Given the description of an element on the screen output the (x, y) to click on. 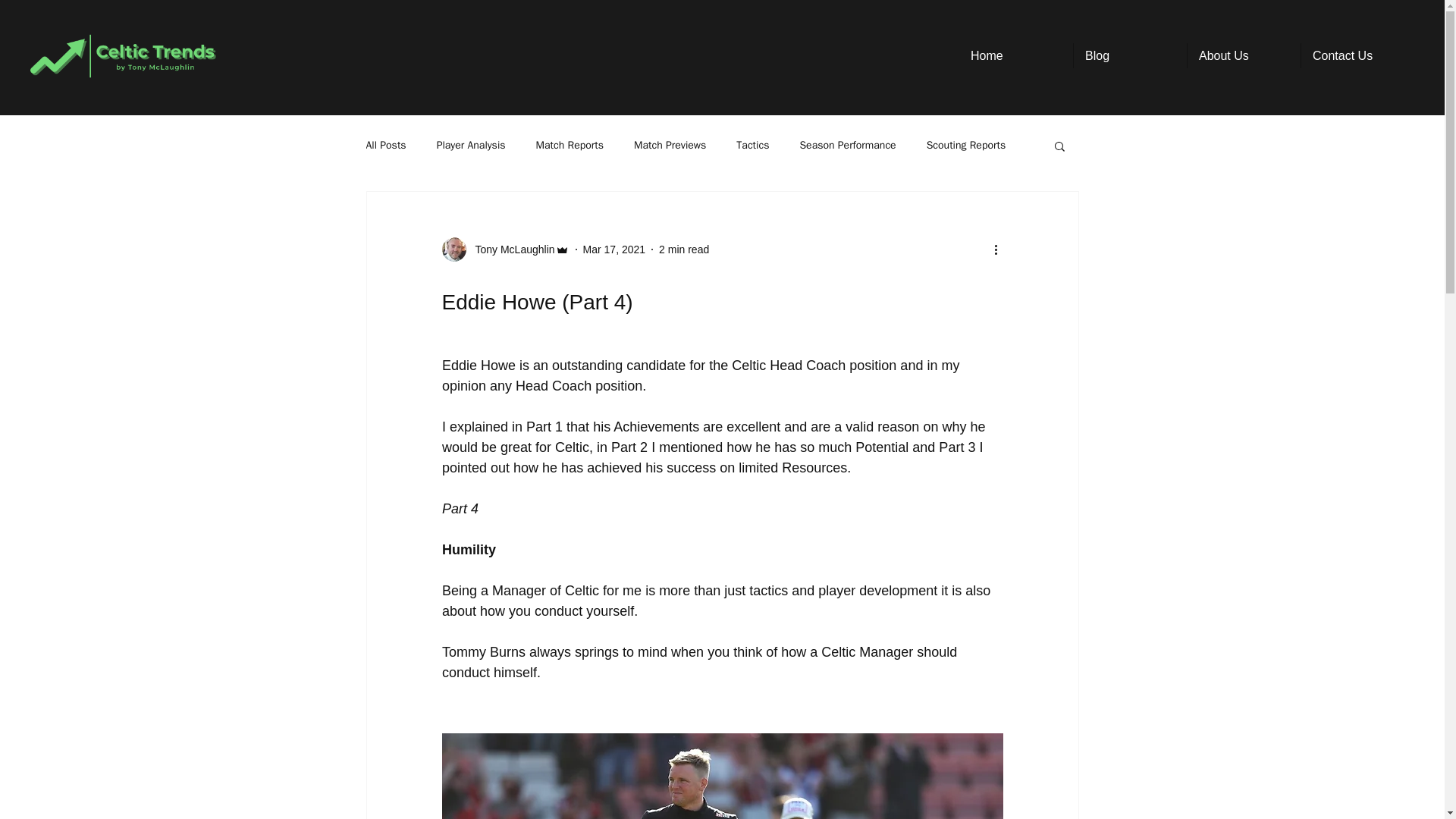
Match Previews (669, 145)
2 min read (684, 248)
Season Performance (847, 145)
All Posts (385, 145)
Tony McLaughlin (509, 248)
Player Analysis (470, 145)
About Us (1244, 55)
Mar 17, 2021 (614, 248)
Home (1016, 55)
Contact Us (1357, 55)
Scouting Reports (966, 145)
Tony McLaughlin (505, 249)
Match Reports (569, 145)
Homepage (122, 55)
Blog (1130, 55)
